Given the description of an element on the screen output the (x, y) to click on. 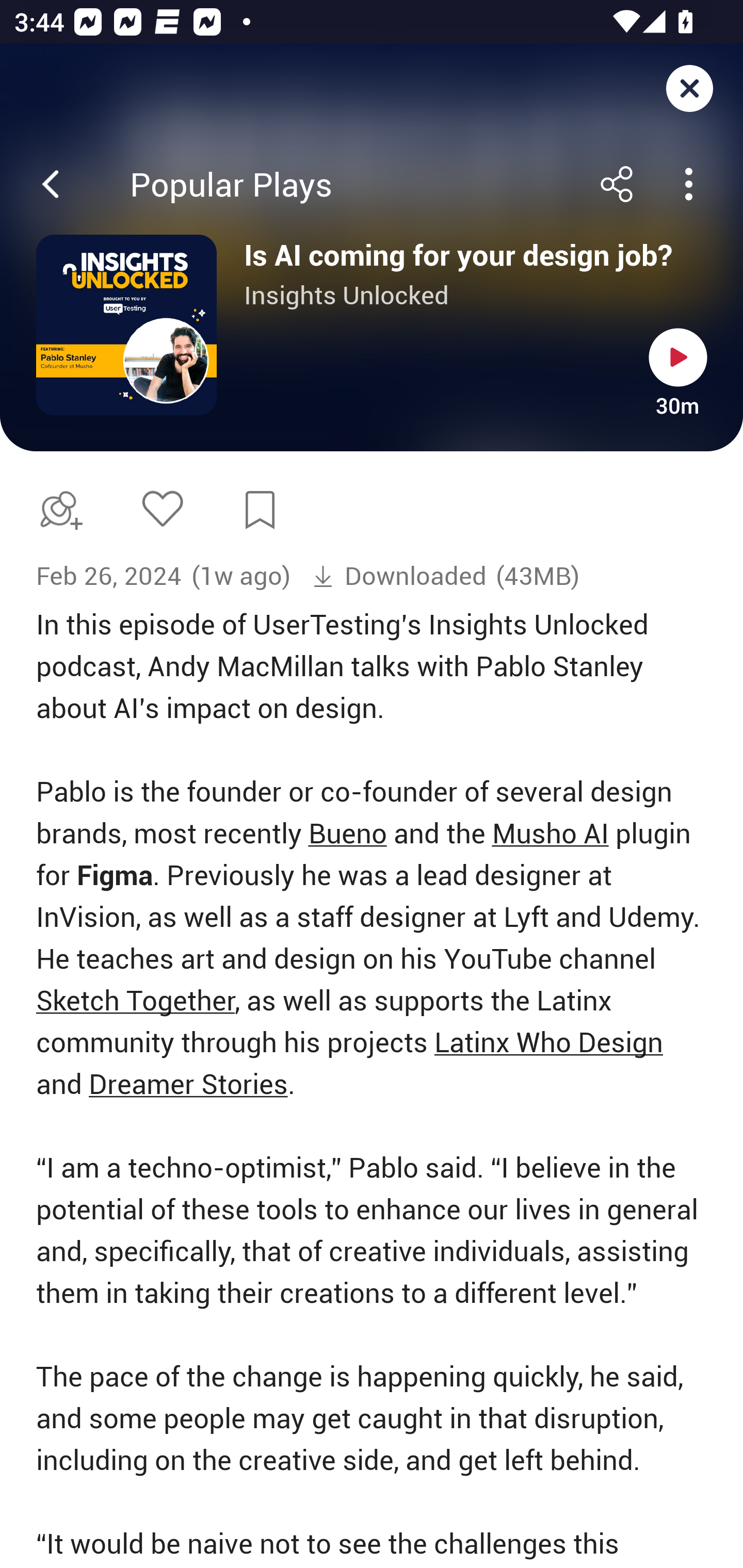
Back (50, 184)
Open series (126, 325)
Play button (677, 357)
Like (161, 507)
Add episode to Play Later (57, 509)
New bookmark … (259, 510)
Downloaded (399, 576)
